Given the description of an element on the screen output the (x, y) to click on. 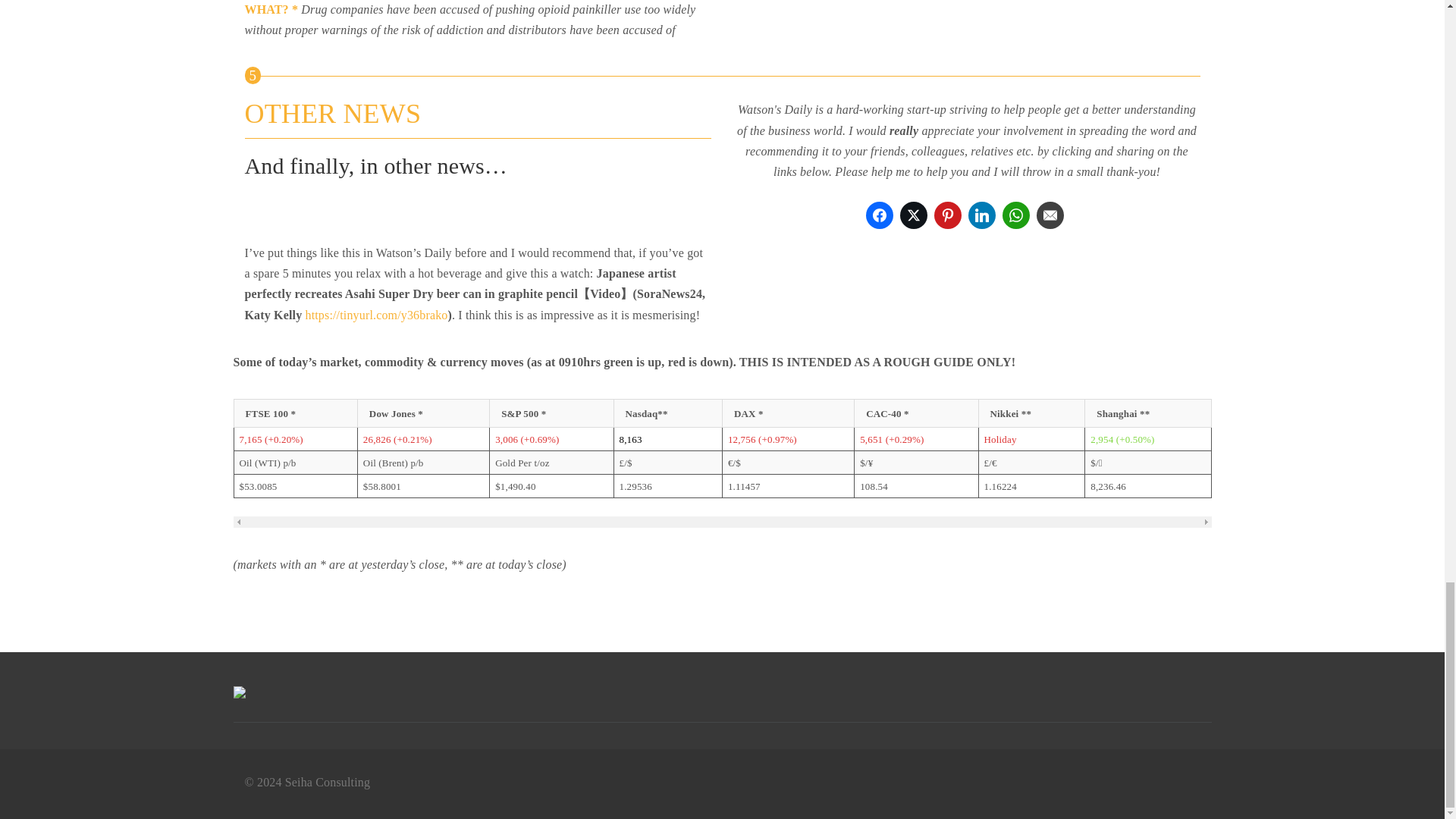
Share on Facebook (879, 215)
Share on Email (1050, 215)
Share on Pinterest (947, 215)
Share on WhatsApp (1016, 215)
Share on LinkedIn (981, 215)
Share on Twitter (913, 215)
